Given the description of an element on the screen output the (x, y) to click on. 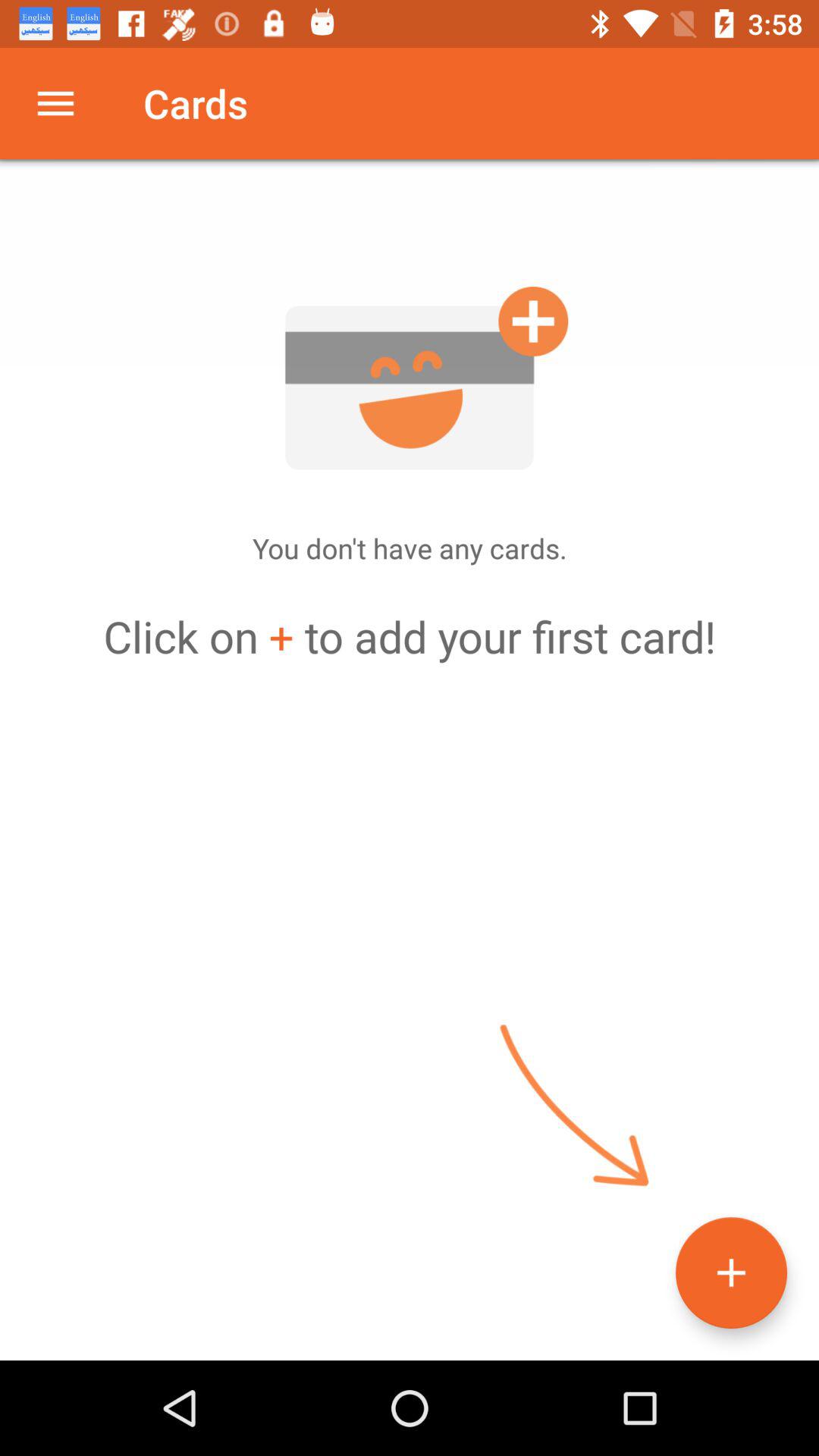
add a card (409, 377)
